Given the description of an element on the screen output the (x, y) to click on. 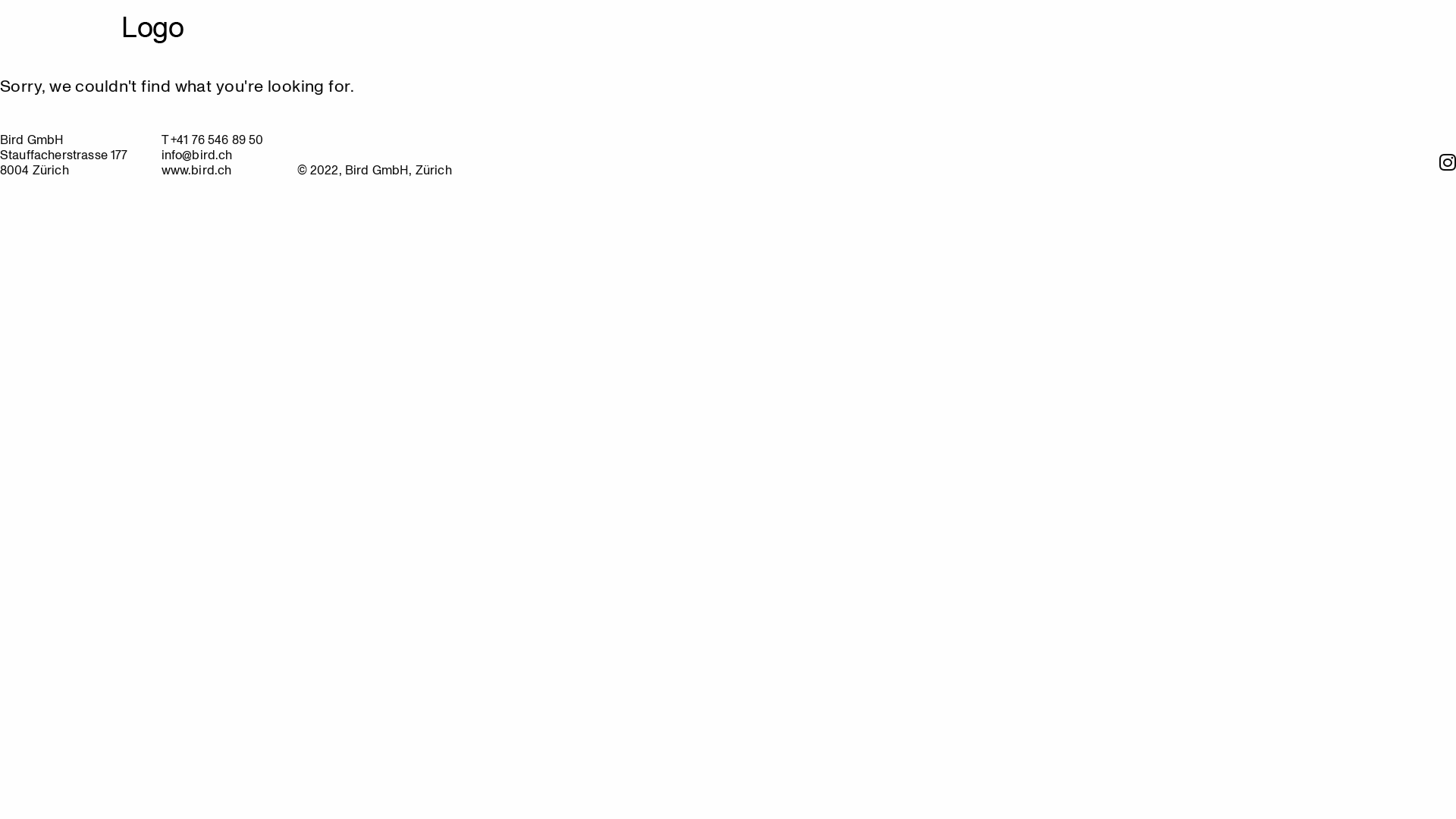
info@bird.ch Element type: text (196, 154)
www.bird.ch Element type: text (196, 169)
